Given the description of an element on the screen output the (x, y) to click on. 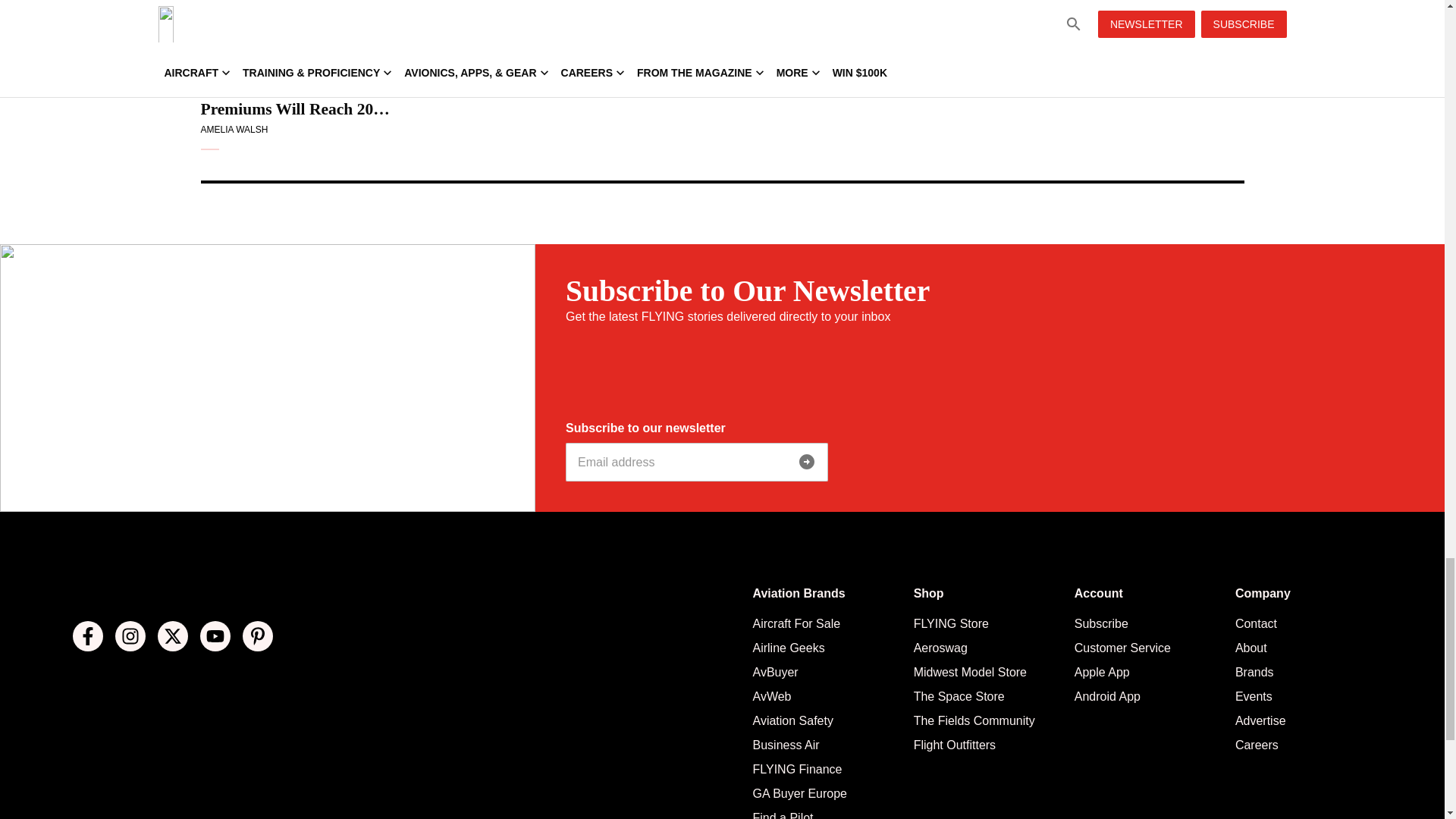
Facebook (87, 635)
Twitter (172, 635)
Pinterest (258, 635)
Submit (807, 461)
Youtube (215, 635)
Instagram (130, 635)
